Given the description of an element on the screen output the (x, y) to click on. 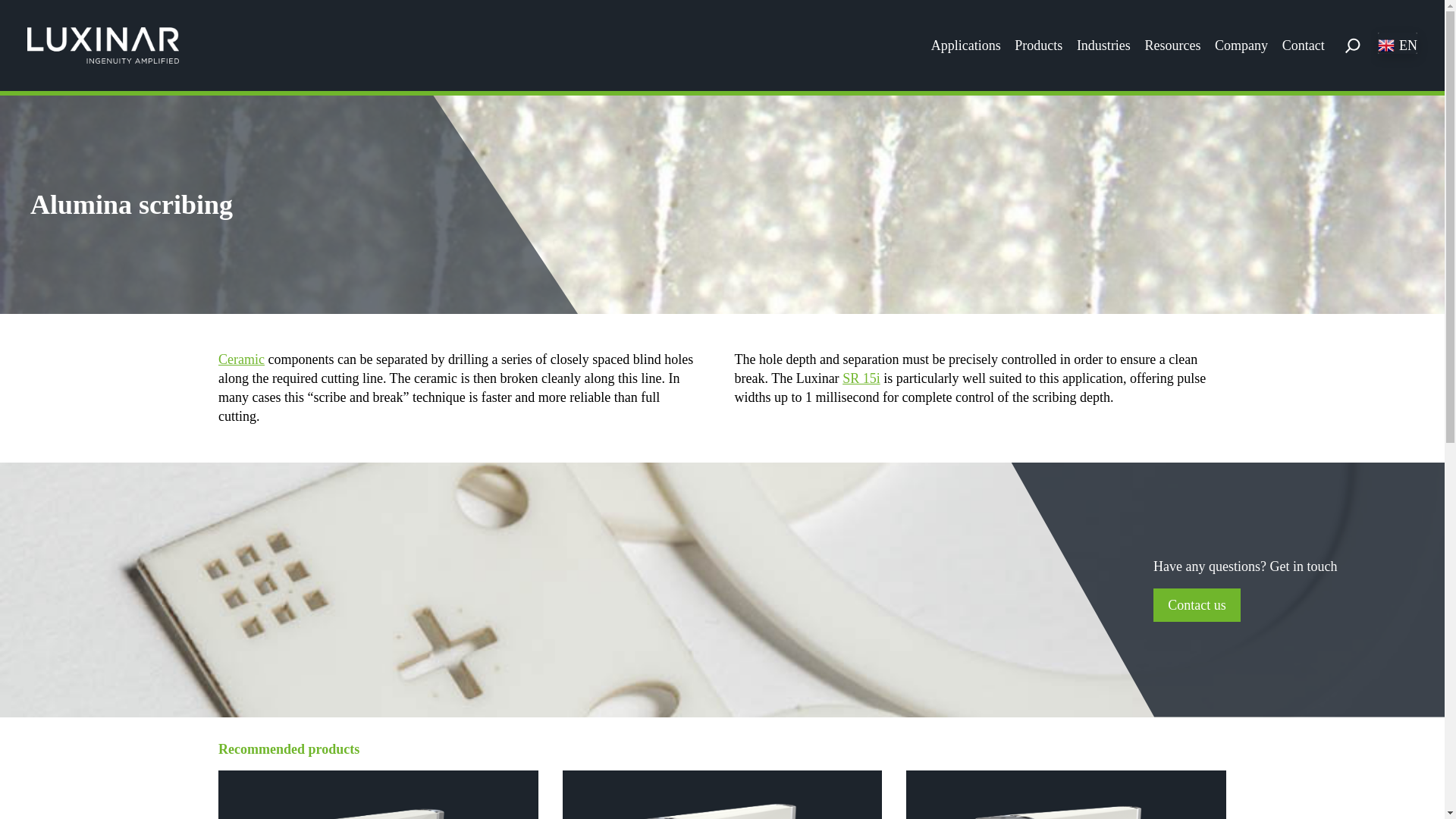
Products (1038, 45)
Contact (1303, 45)
Industries (1104, 45)
Company (1241, 45)
Applications (966, 45)
Resources (1171, 45)
